Given the description of an element on the screen output the (x, y) to click on. 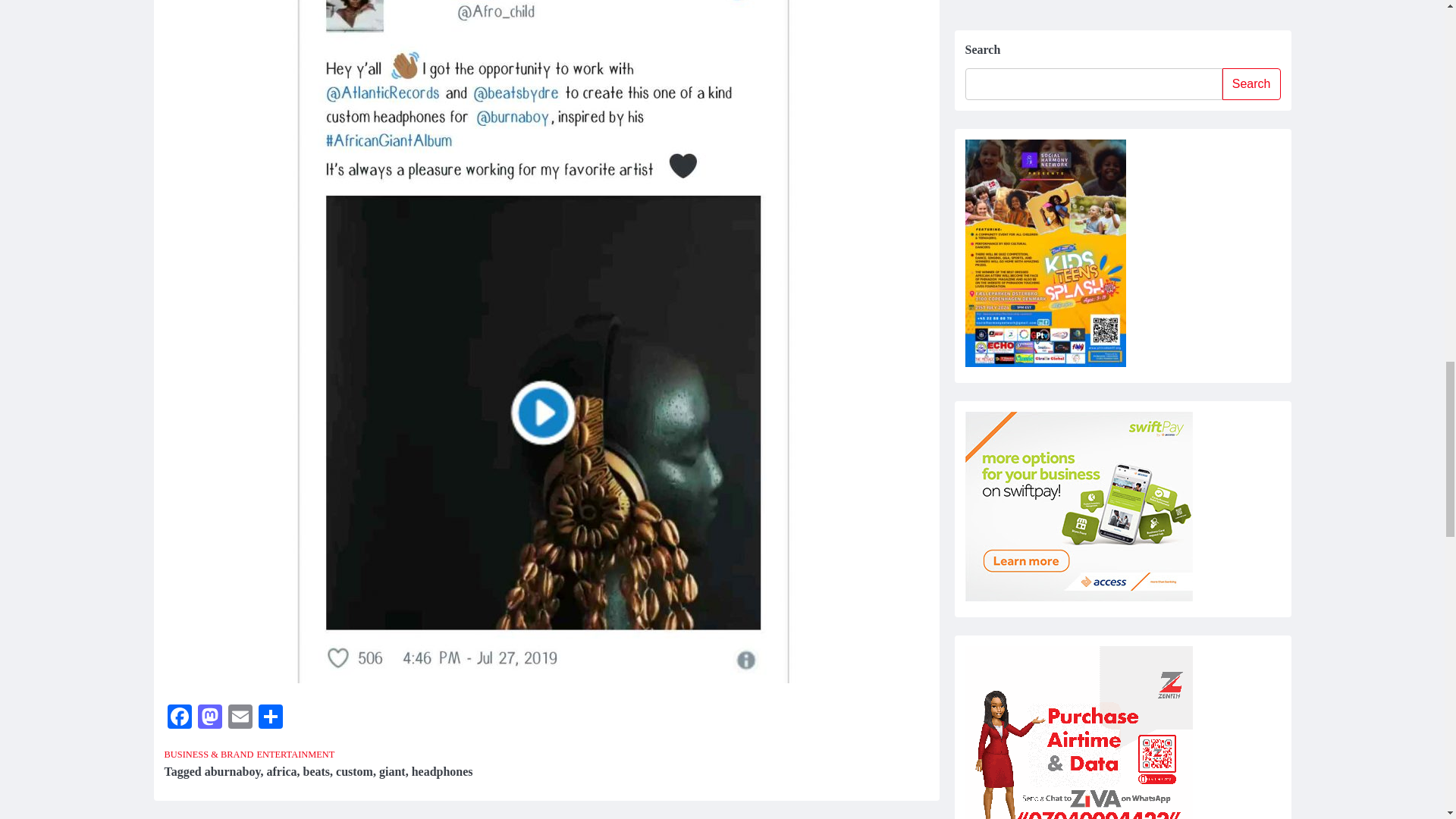
beats (316, 771)
Facebook (178, 718)
Email (239, 718)
ENTERTAINMENT (295, 754)
africa (281, 771)
headphones (442, 771)
Mastodon (208, 718)
giant (392, 771)
aburnaboy (232, 771)
Share (269, 718)
custom (354, 771)
Facebook (178, 718)
Mastodon (208, 718)
Email (239, 718)
